Given the description of an element on the screen output the (x, y) to click on. 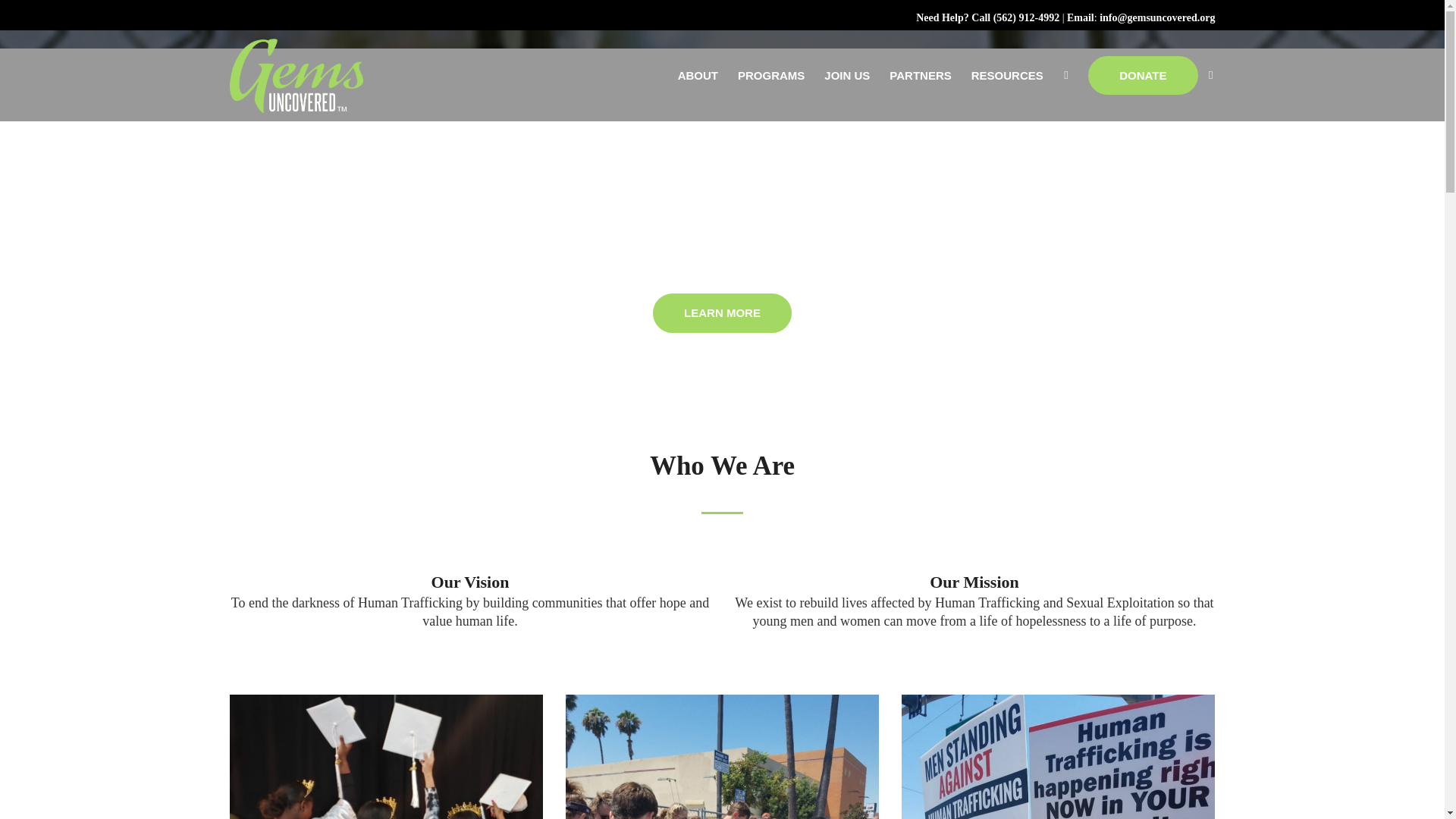
RESOURCES (1006, 75)
PARTNERS (919, 75)
PROGRAMS (770, 75)
LEARN MORE (722, 312)
DONATE (1141, 75)
team-praying (722, 756)
protest-signs-800 (1057, 756)
graduation-girls (384, 756)
